Given the description of an element on the screen output the (x, y) to click on. 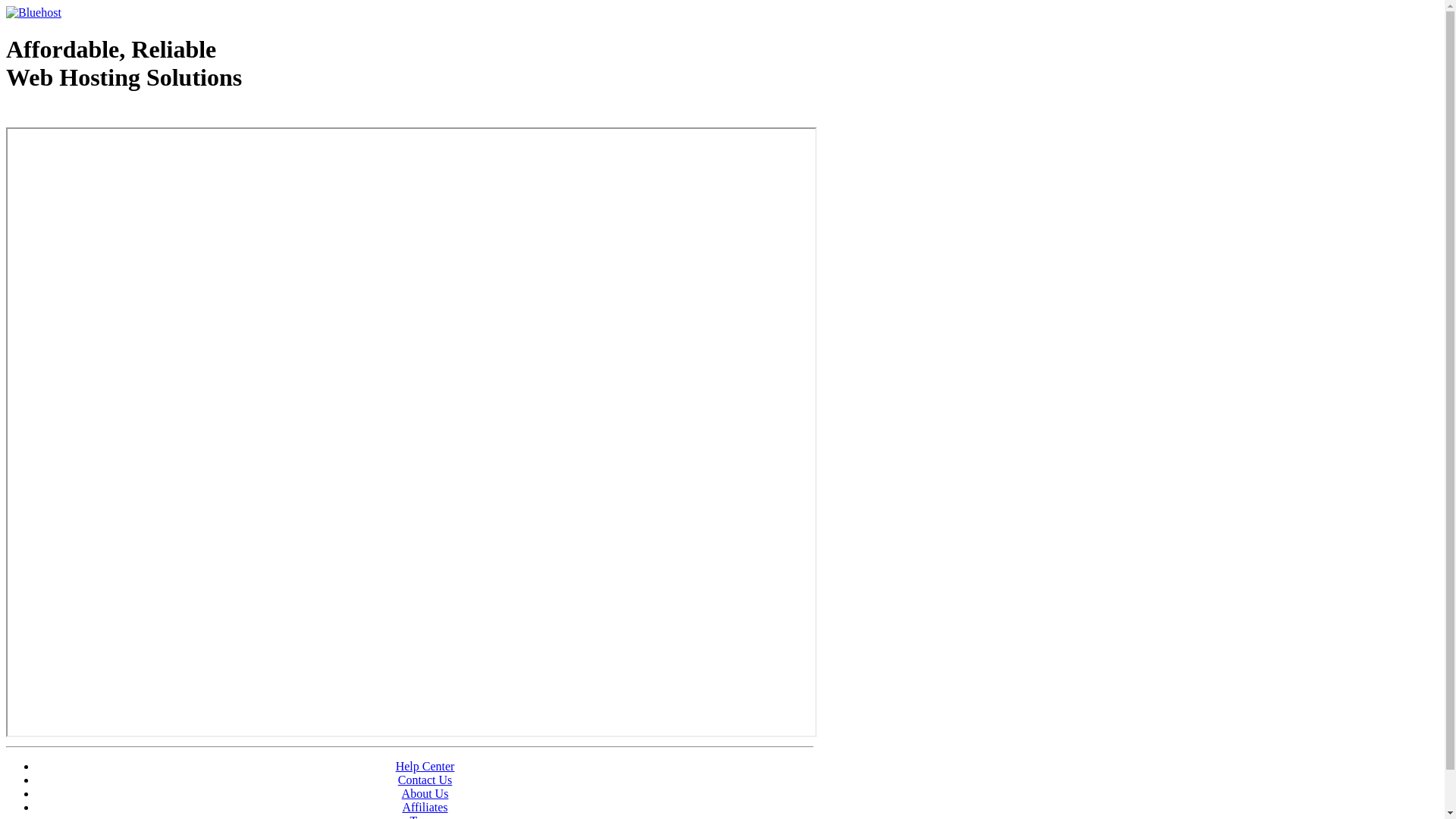
Affiliates Element type: text (424, 806)
Contact Us Element type: text (425, 779)
Help Center Element type: text (425, 765)
Web Hosting - courtesy of www.bluehost.com Element type: text (94, 115)
About Us Element type: text (424, 793)
